Given the description of an element on the screen output the (x, y) to click on. 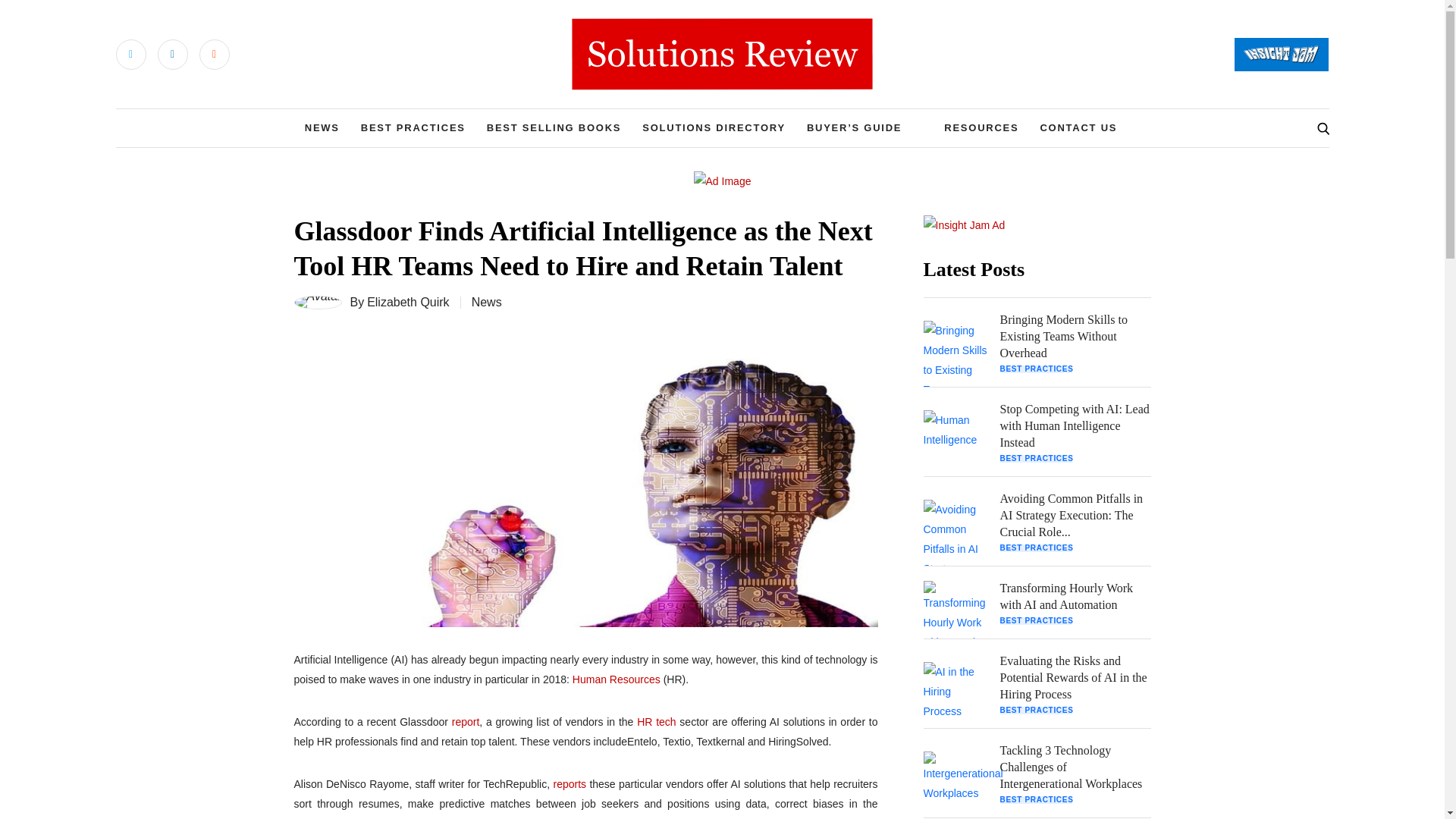
HR tech (656, 721)
Human Resources (616, 679)
SOLUTIONS DIRECTORY (714, 127)
NEWS (321, 127)
reports (569, 784)
News (486, 301)
Insight Jam Ad (964, 225)
RESOURCES (980, 127)
CONTACT US (1077, 127)
BEST SELLING BOOKS (553, 127)
